Given the description of an element on the screen output the (x, y) to click on. 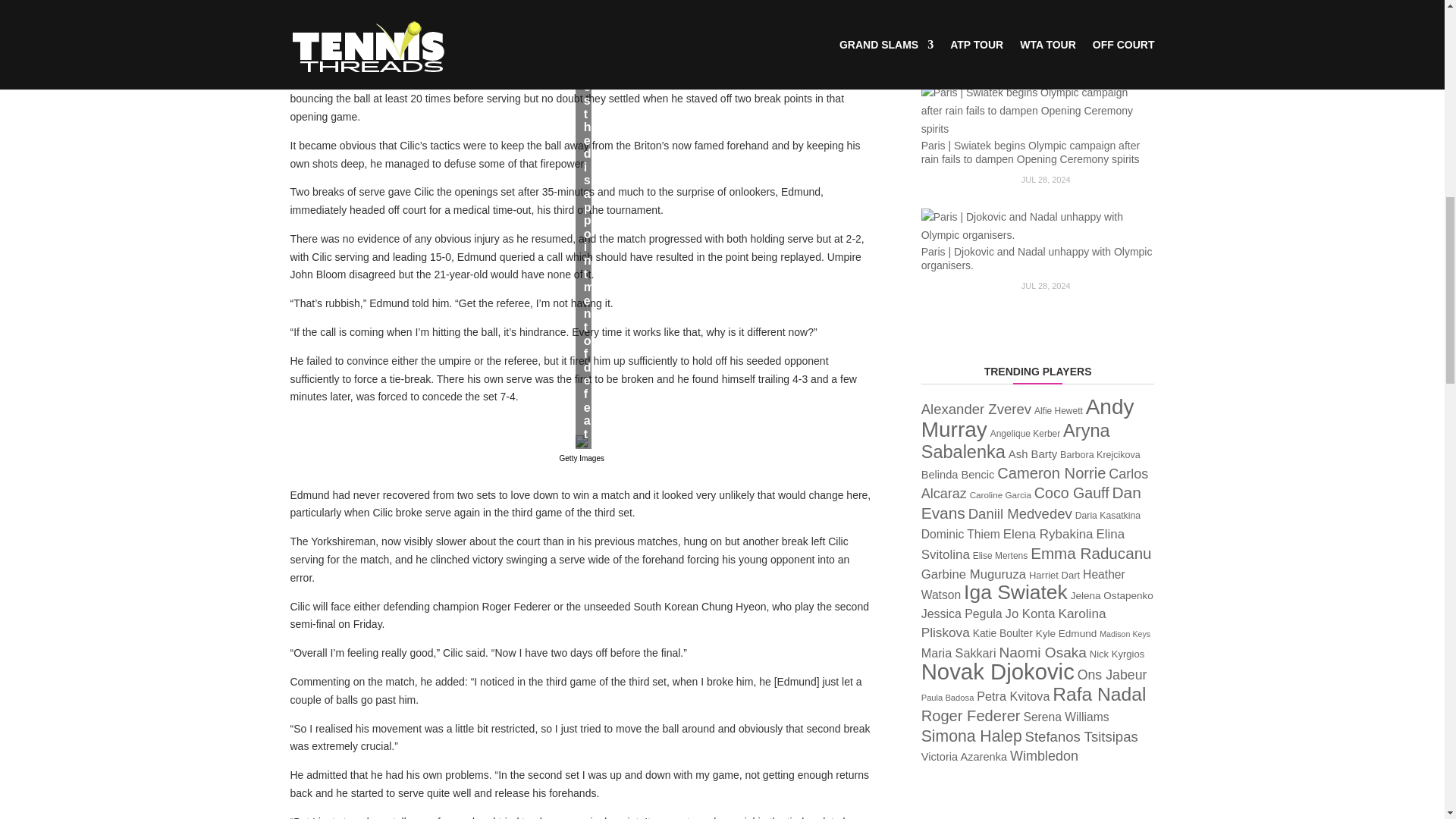
Angelique Kerber (1025, 433)
Barbora Krejcikova (1099, 454)
Coco Gauff (1071, 492)
Caroline Garcia (999, 494)
Carlos Alcaraz (1034, 484)
Aryna Sabalenka (1015, 440)
Daniil Medvedev (1019, 513)
Daria Kasatkina (1107, 515)
 2018 Australian Open - Day 11  (581, 440)
Alexander Zverev (975, 408)
Belinda Bencic (957, 474)
Cameron Norrie (1051, 473)
Dan Evans (1031, 502)
Andy Murray (1027, 417)
Ash Barty (1033, 453)
